Given the description of an element on the screen output the (x, y) to click on. 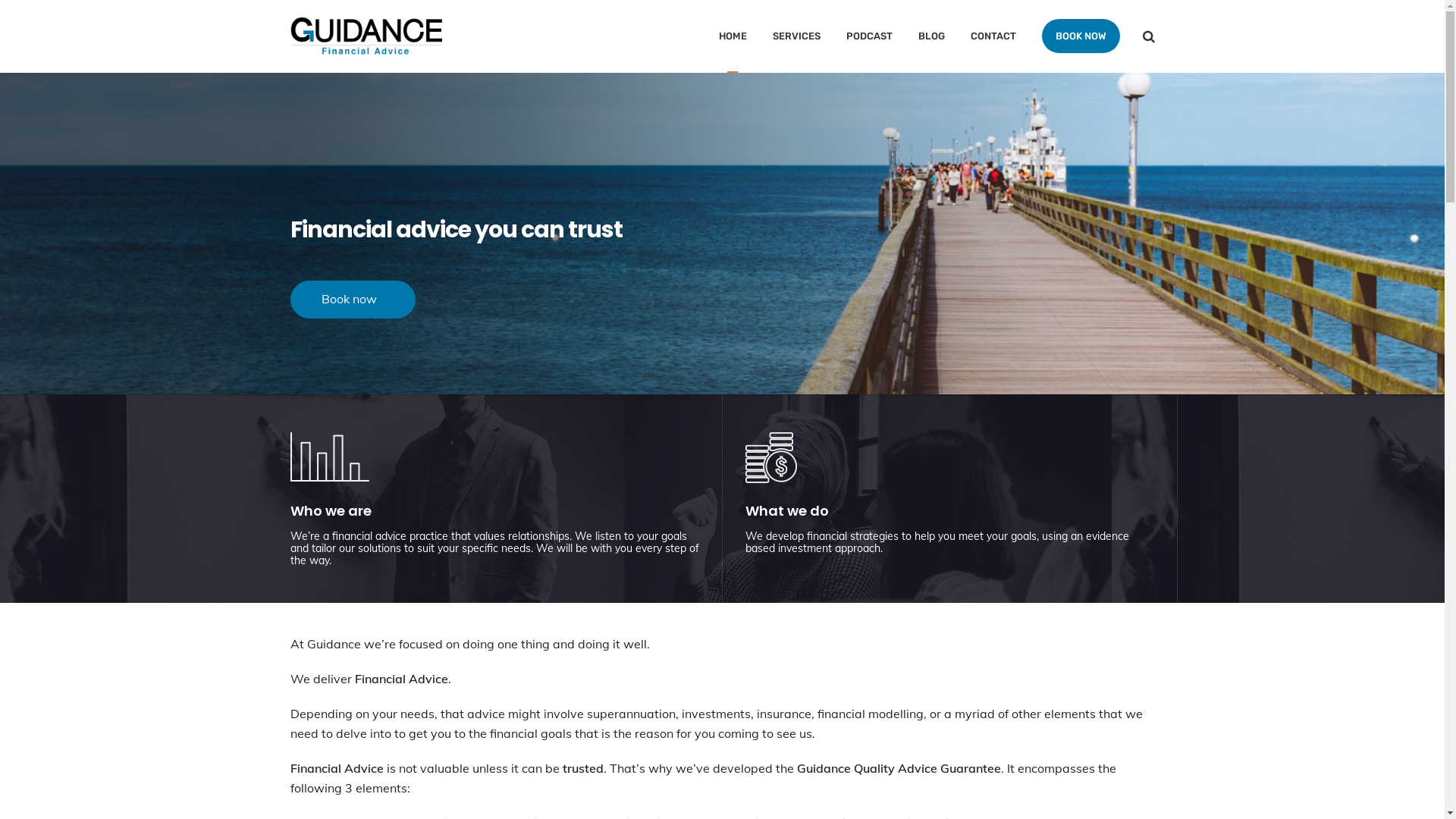
BOOK NOW Element type: text (1080, 35)
Book now Element type: text (351, 299)
CONTACT Element type: text (993, 36)
SERVICES Element type: text (795, 36)
HOME Element type: text (732, 36)
BLOG Element type: text (930, 36)
PODCAST Element type: text (869, 36)
